Given the description of an element on the screen output the (x, y) to click on. 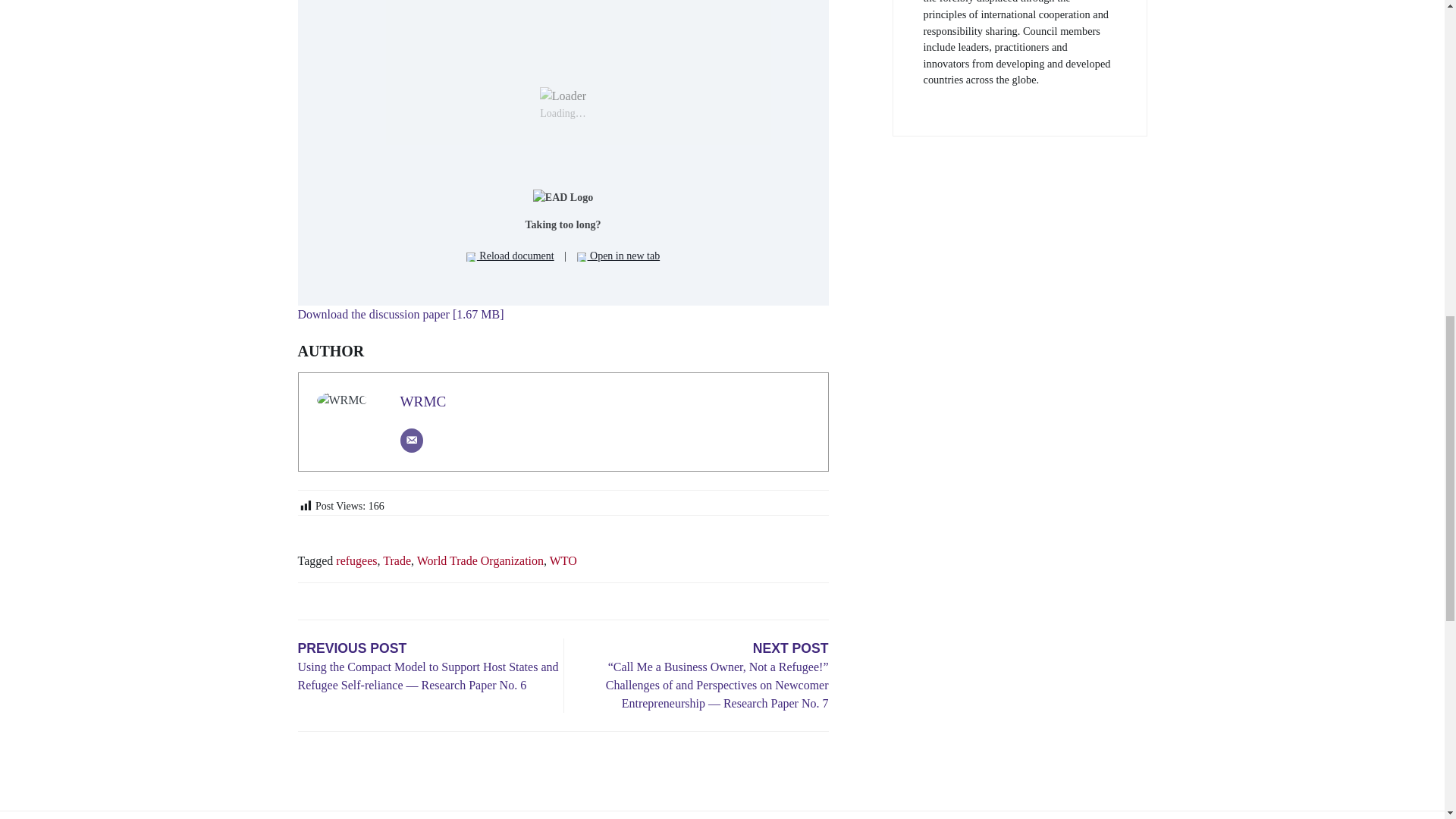
WTO (563, 561)
WRMC (423, 402)
Open in new tab (618, 256)
World Trade Organization (479, 561)
WRMC (423, 402)
refugees (356, 561)
Trade (396, 561)
